Given the description of an element on the screen output the (x, y) to click on. 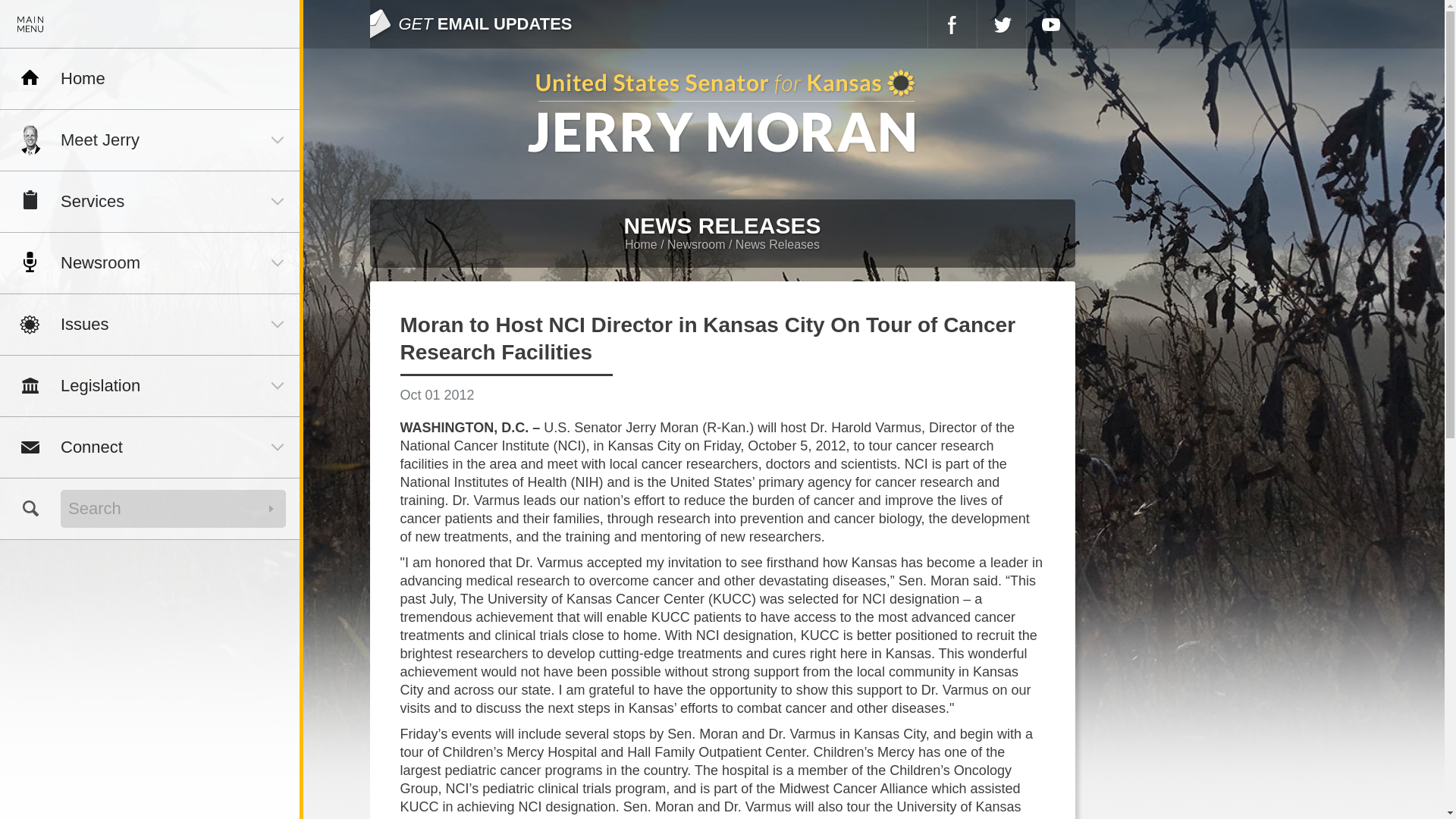
Newsroom (149, 262)
Home (149, 78)
Issues (149, 324)
Meet Jerry (149, 139)
Services (149, 201)
